Given the description of an element on the screen output the (x, y) to click on. 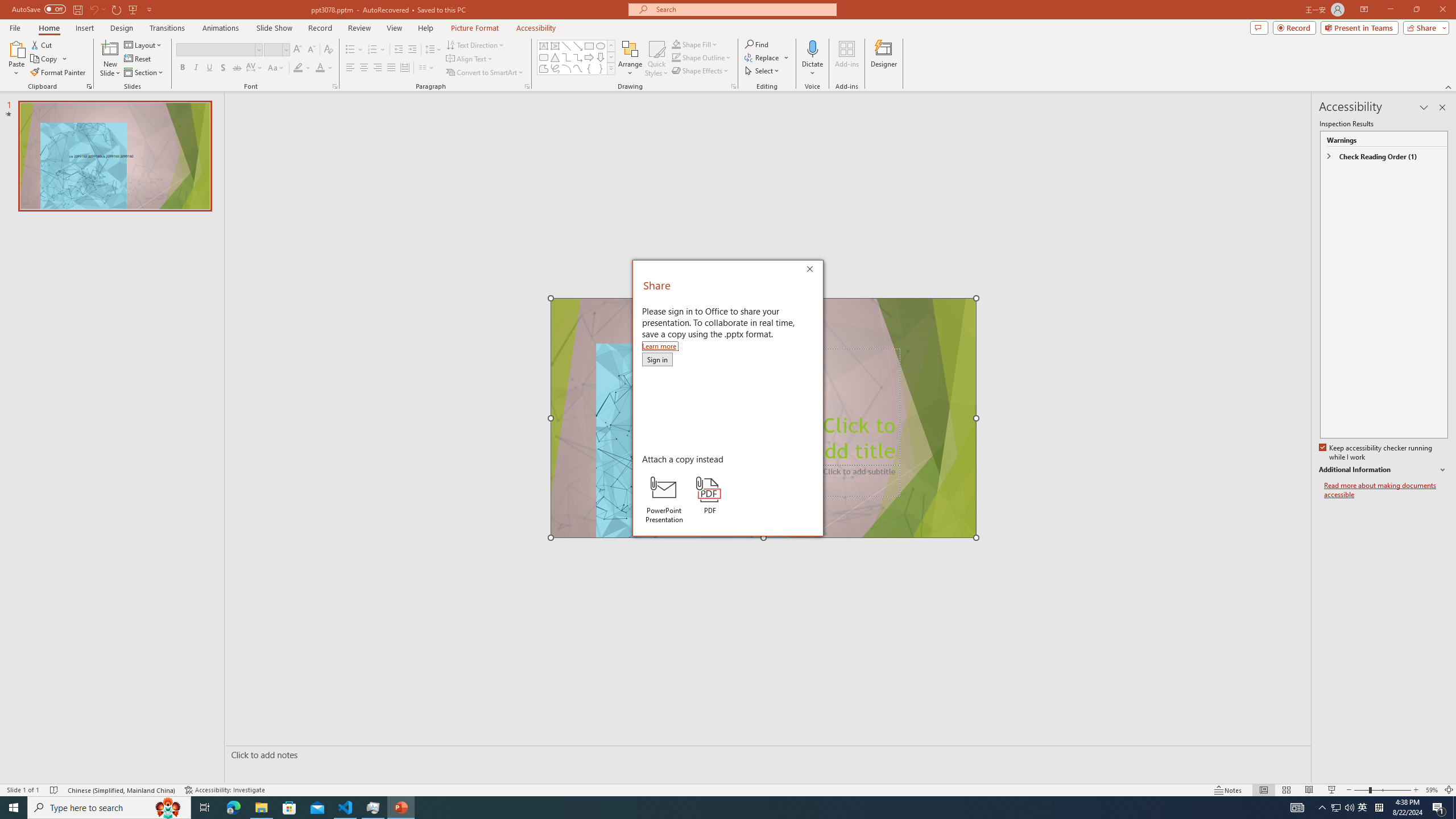
Keep accessibility checker running while I work (1376, 452)
Task Manager - 1 running window (373, 807)
